Given the description of an element on the screen output the (x, y) to click on. 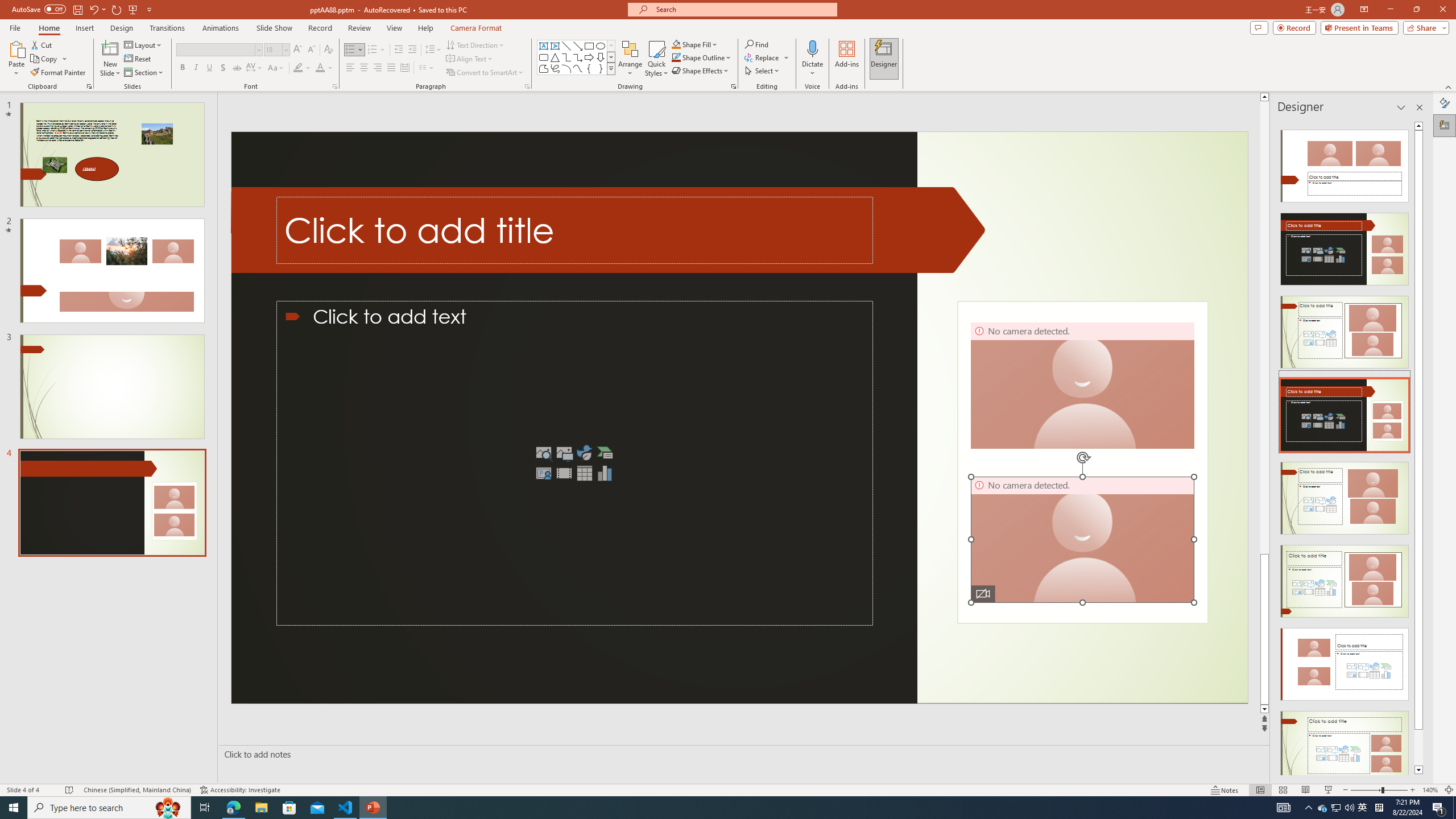
Design Idea (1344, 743)
Arc (566, 68)
Format Painter (58, 72)
Slide Notes (741, 754)
Shape Outline Teal, Accent 1 (675, 56)
Cut (42, 44)
Close pane (1419, 107)
Shape Outline (701, 56)
Content Placeholder (574, 462)
Numbering (376, 49)
Page down (1418, 747)
Insert Chart (604, 473)
